Given the description of an element on the screen output the (x, y) to click on. 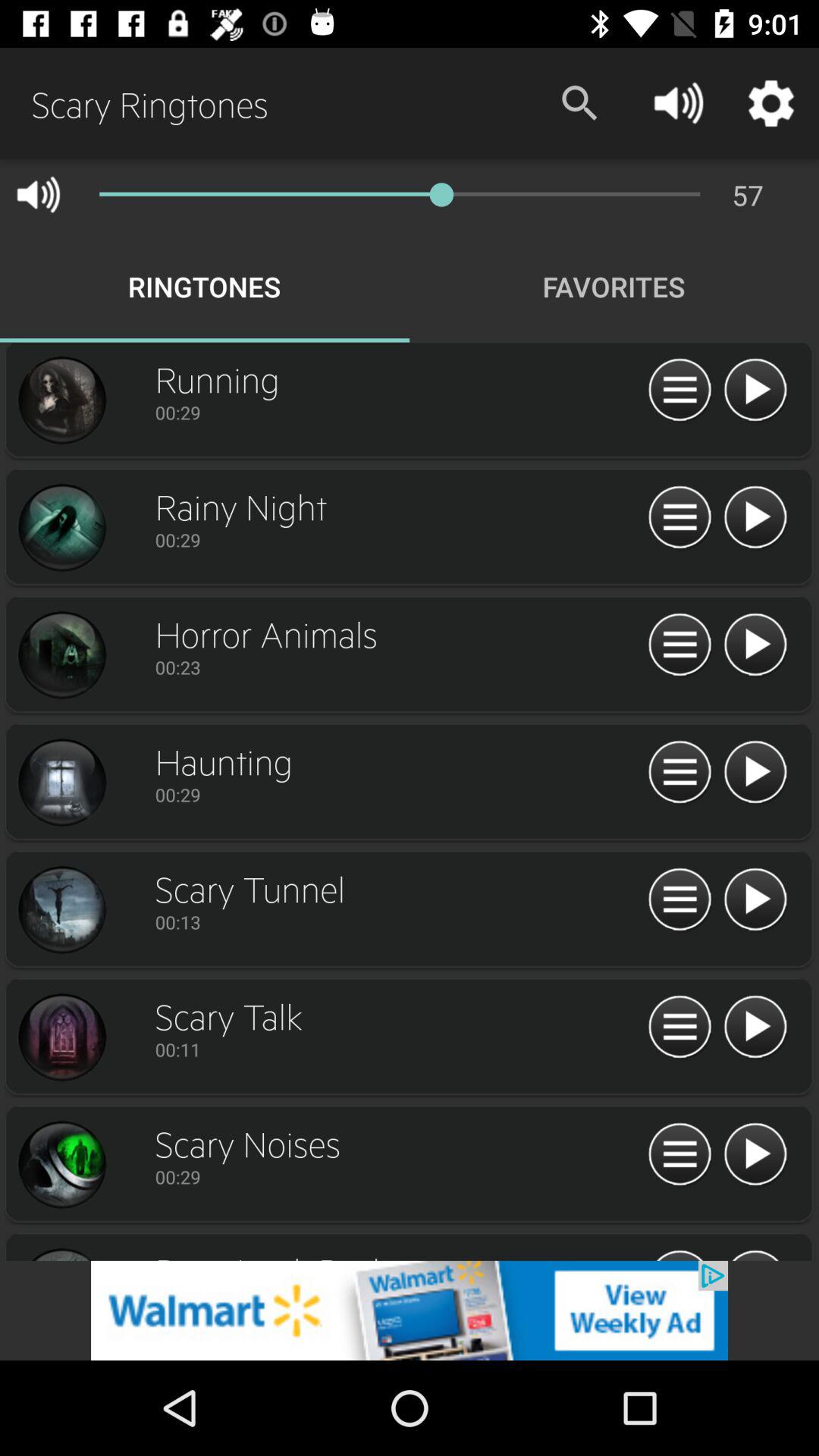
play option (755, 1154)
